Given the description of an element on the screen output the (x, y) to click on. 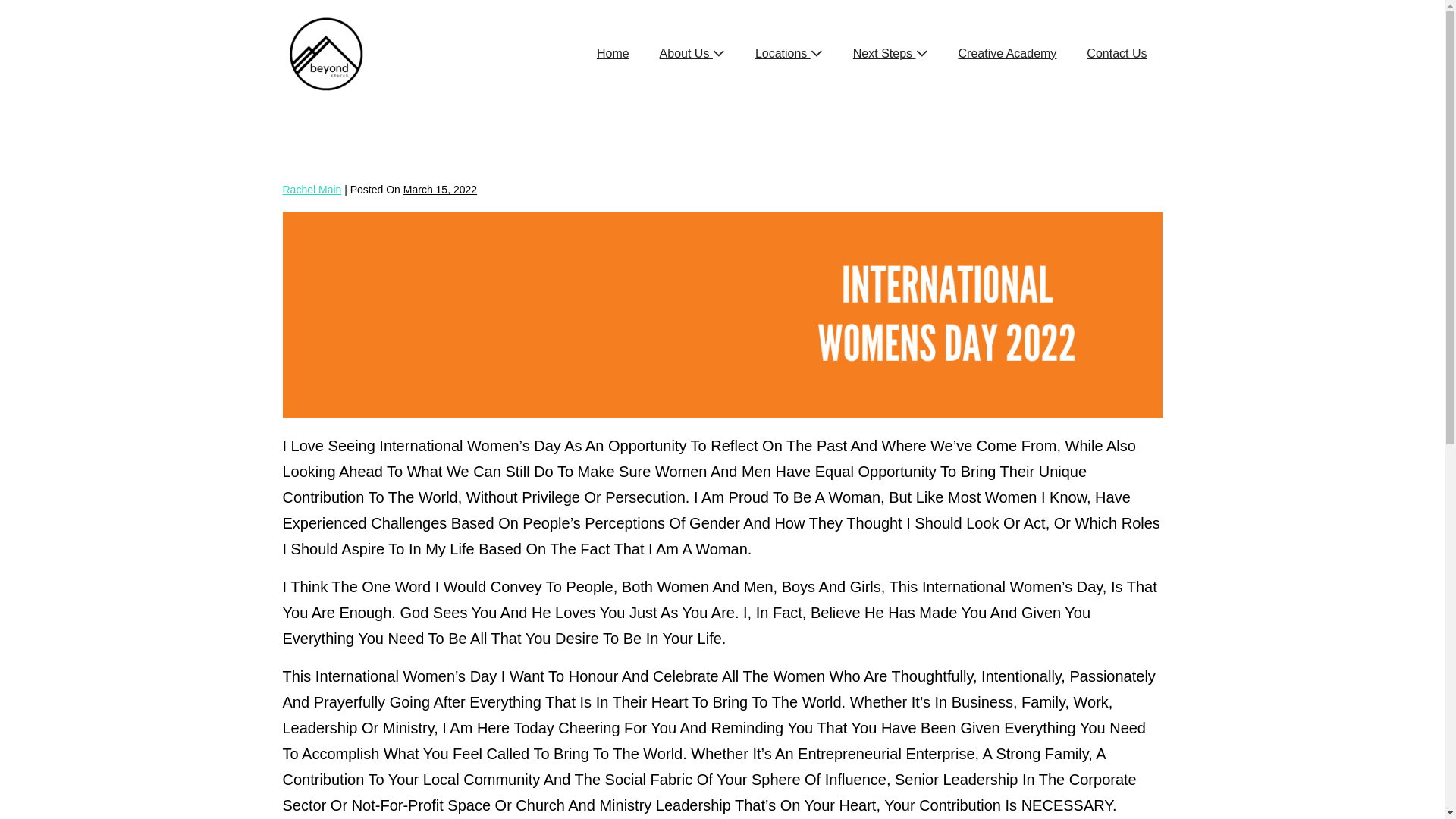
Contact Us Element type: text (1116, 53)
Next Steps Element type: text (890, 53)
Beyond Church Element type: hover (326, 53)
About Us Element type: text (692, 53)
Creative Academy Element type: text (1007, 53)
Home Element type: text (612, 53)
Locations Element type: text (788, 53)
Rachel Main Element type: text (311, 189)
